Given the description of an element on the screen output the (x, y) to click on. 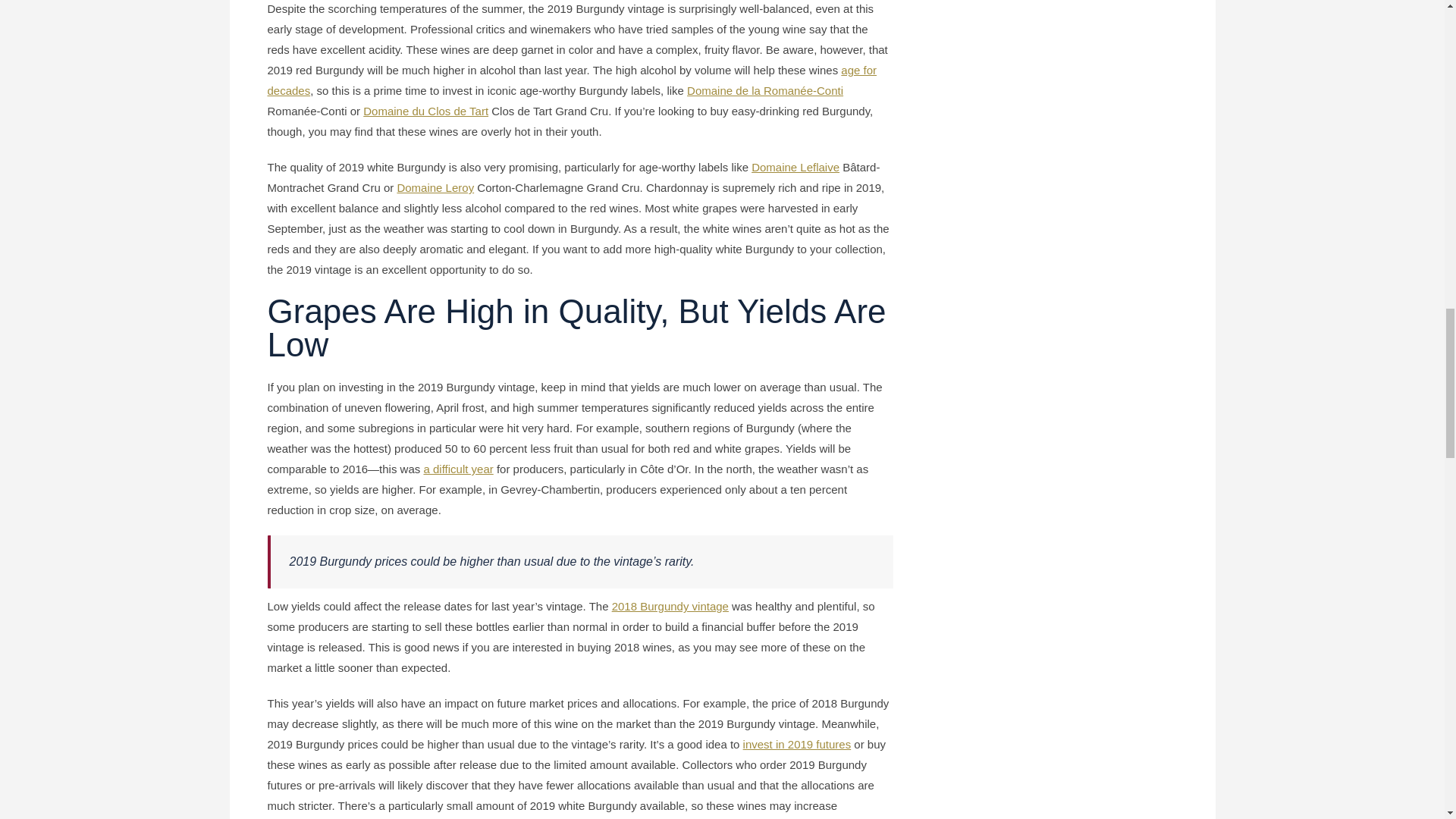
Domaine du Clos de Tart (424, 110)
Domaine Leflaive (795, 166)
age for decades (571, 80)
2018 Burgundy vintage (670, 605)
a difficult year (458, 468)
invest in 2019 futures (796, 744)
Domaine Leroy (435, 187)
